Given the description of an element on the screen output the (x, y) to click on. 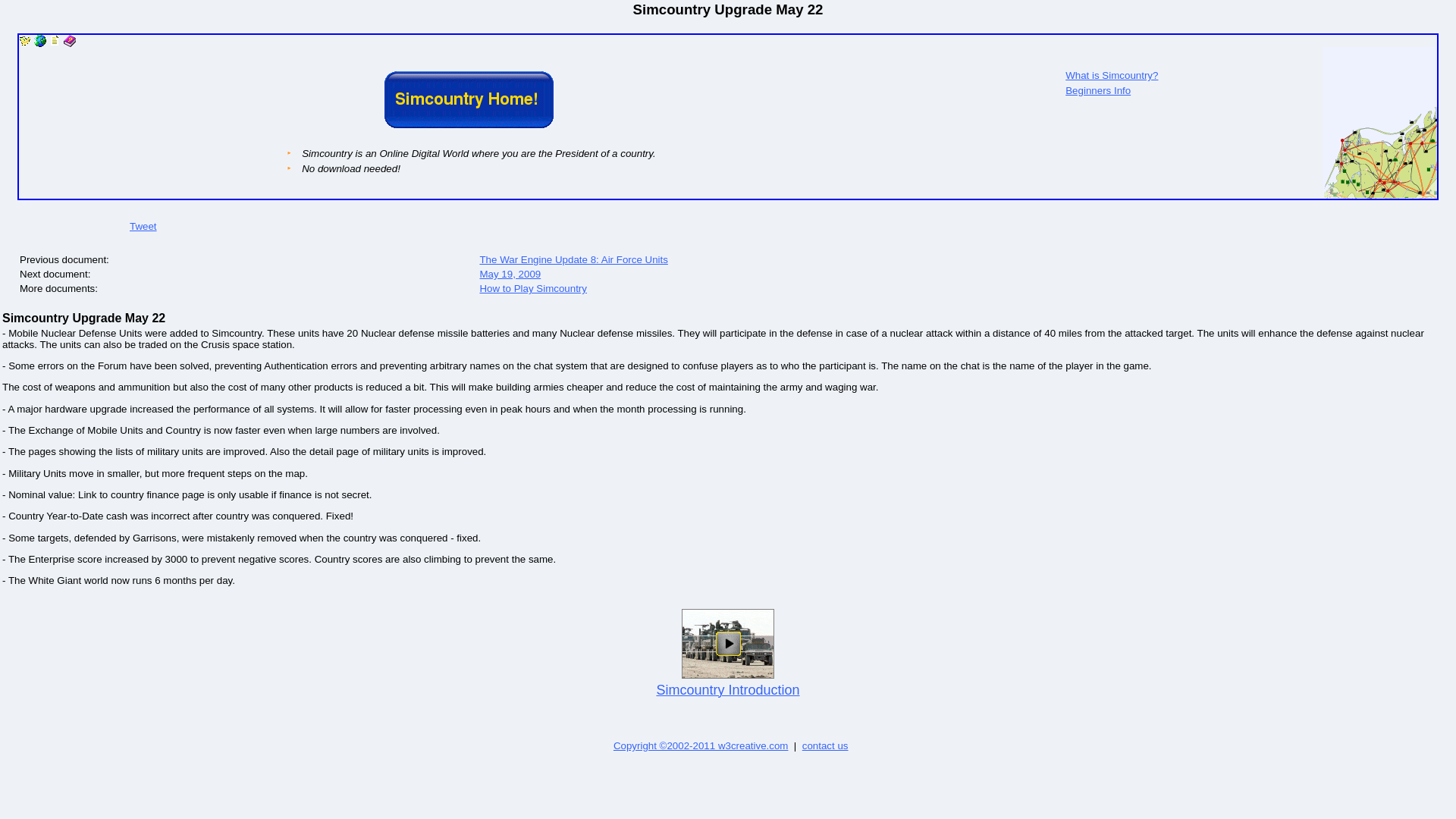
May 19, 2009 (509, 274)
Simcountry Home (24, 43)
How to Play Simcountry (39, 40)
Documentation (54, 40)
Email the Gamemaster (825, 745)
W3Creative.com (700, 745)
How to Play Simcountry (532, 288)
Simcountry Documentation (54, 43)
Terminology (69, 40)
What is Simcountry? (1111, 75)
contact us (825, 745)
Simcountry (24, 40)
Beginners Info (1098, 90)
Simcountry Terminology (69, 43)
How to Play Simcountry (39, 43)
